Given the description of an element on the screen output the (x, y) to click on. 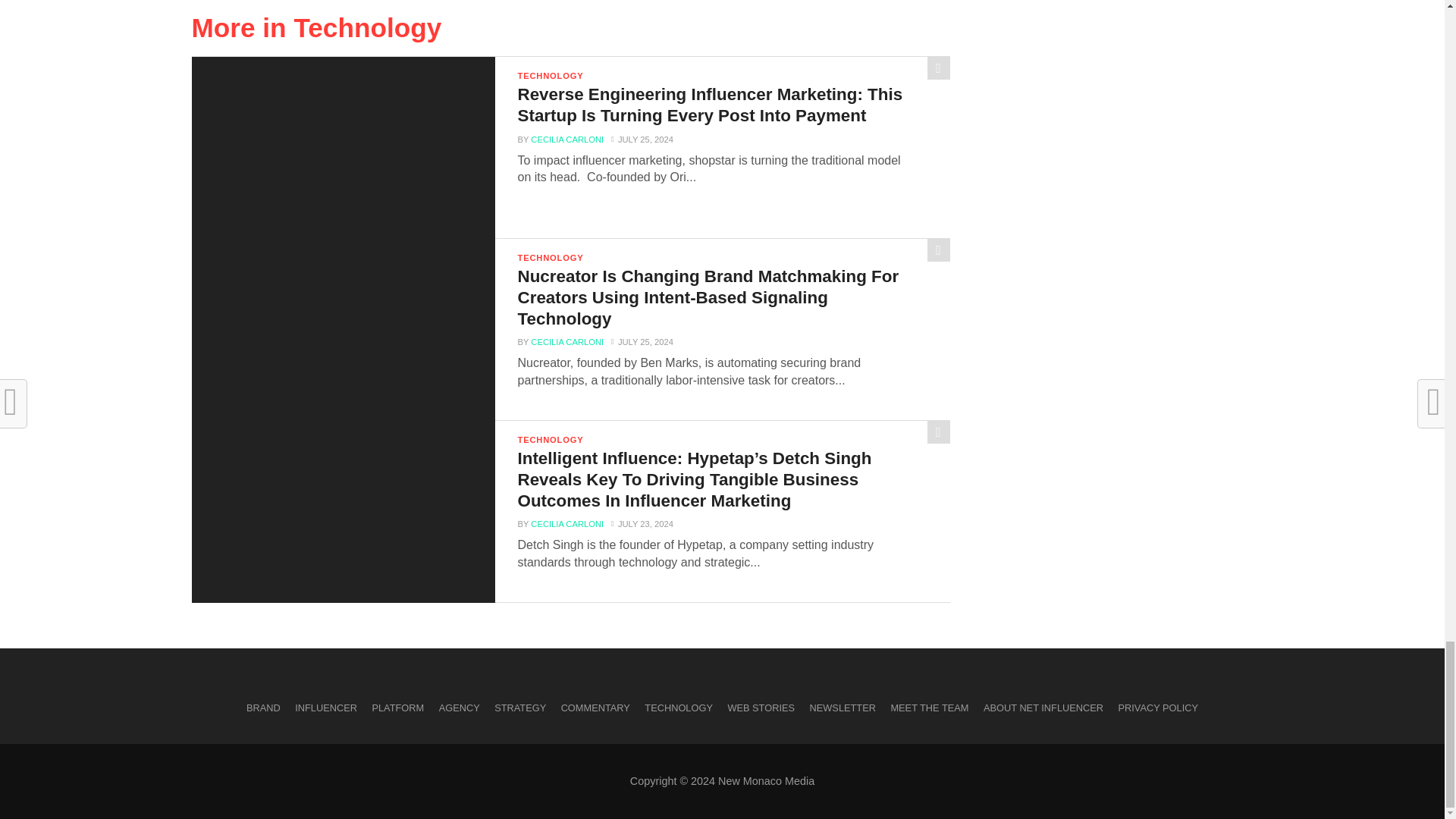
Posts by Cecilia Carloni (567, 139)
Posts by Cecilia Carloni (567, 341)
